Given the description of an element on the screen output the (x, y) to click on. 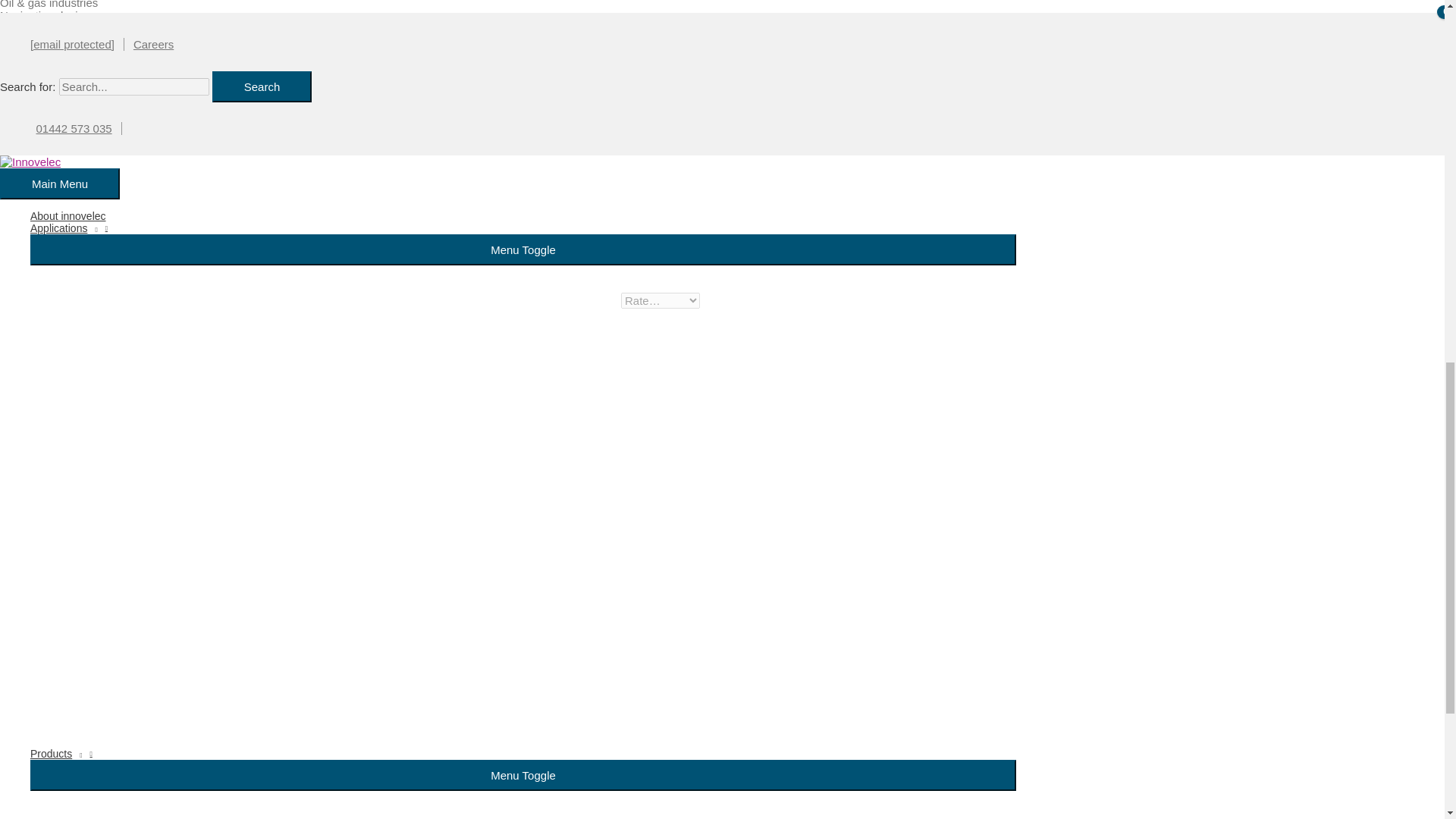
yes (567, 506)
Submit (608, 540)
